Given the description of an element on the screen output the (x, y) to click on. 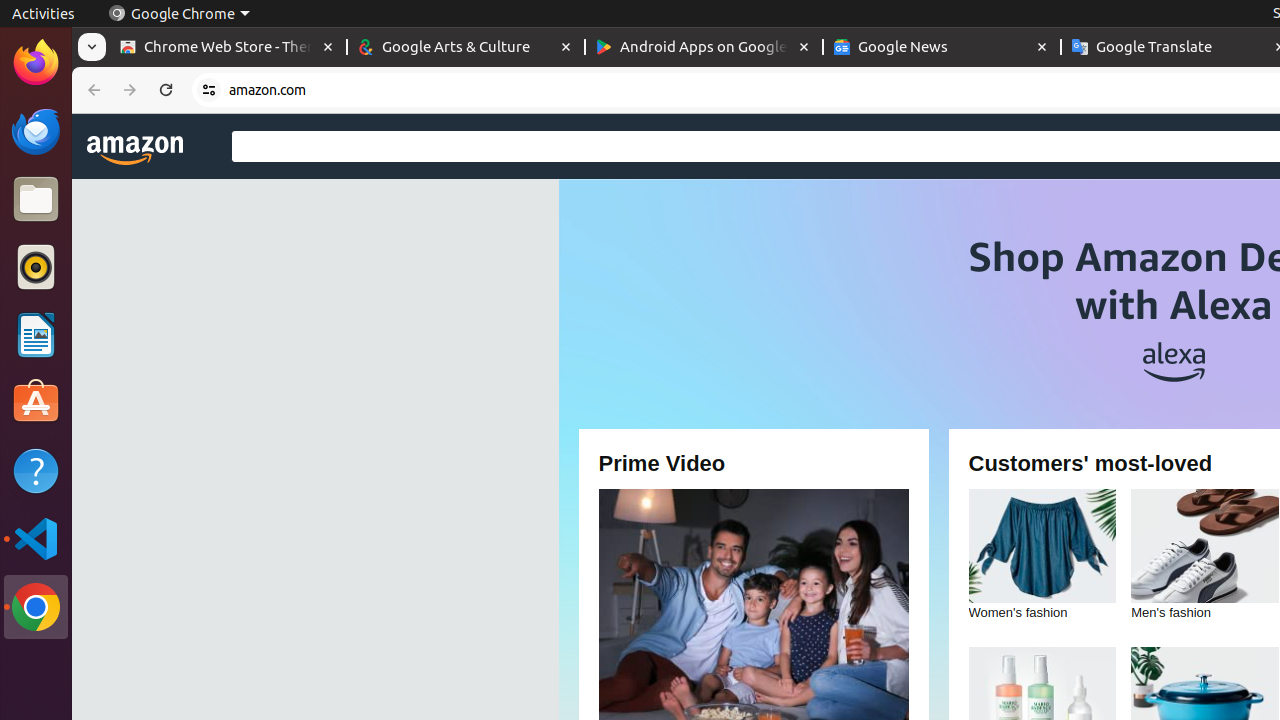
Google Chrome Element type: menu (179, 13)
Thunderbird Mail Element type: push-button (36, 131)
View site information Element type: push-button (209, 90)
Rhythmbox Element type: push-button (36, 267)
LibreOffice Writer Element type: push-button (36, 334)
